Given the description of an element on the screen output the (x, y) to click on. 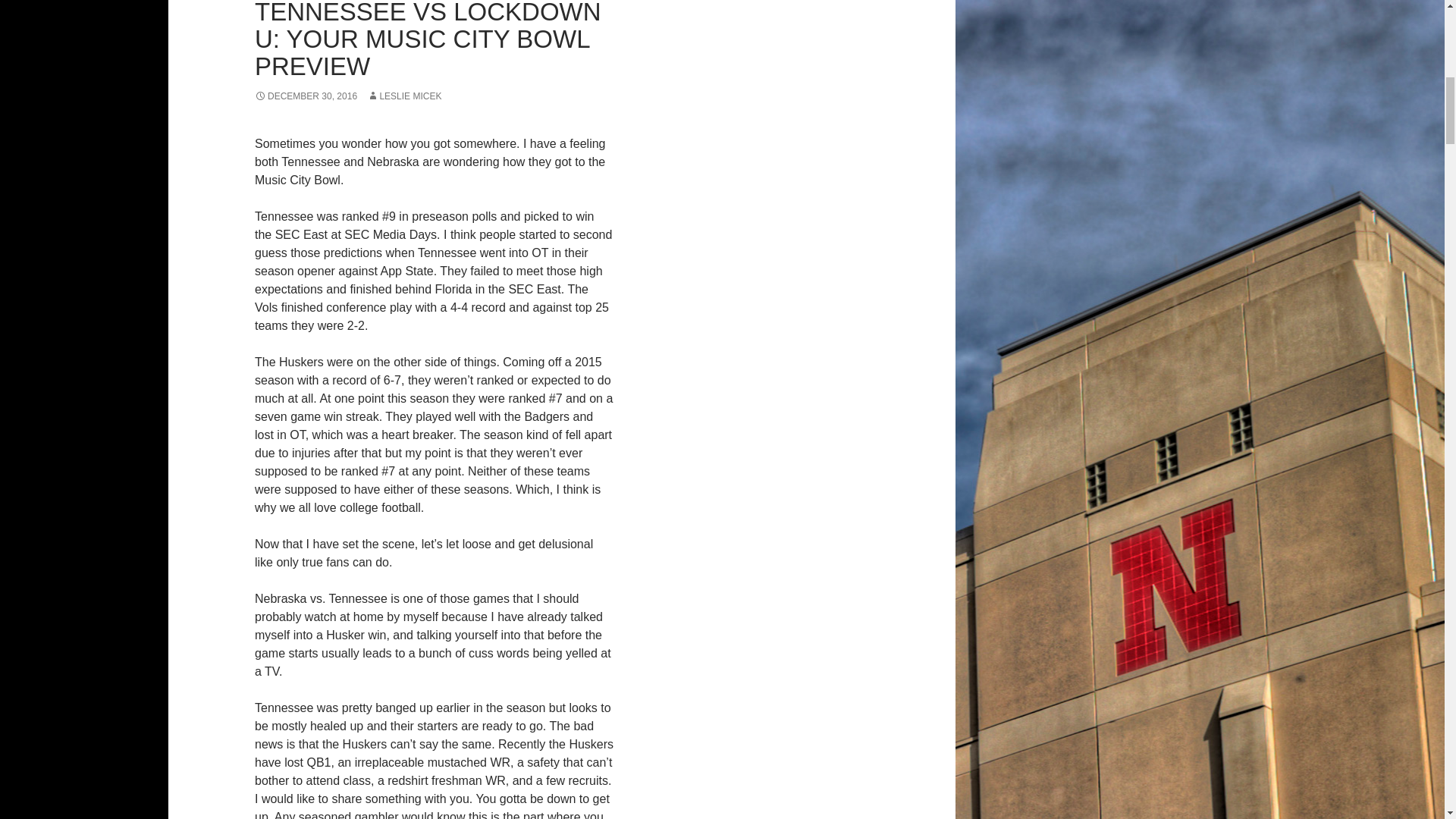
LESLIE MICEK (403, 95)
DECEMBER 30, 2016 (305, 95)
TENNESSEE VS LOCKDOWN U: YOUR MUSIC CITY BOWL PREVIEW (427, 40)
